Given the description of an element on the screen output the (x, y) to click on. 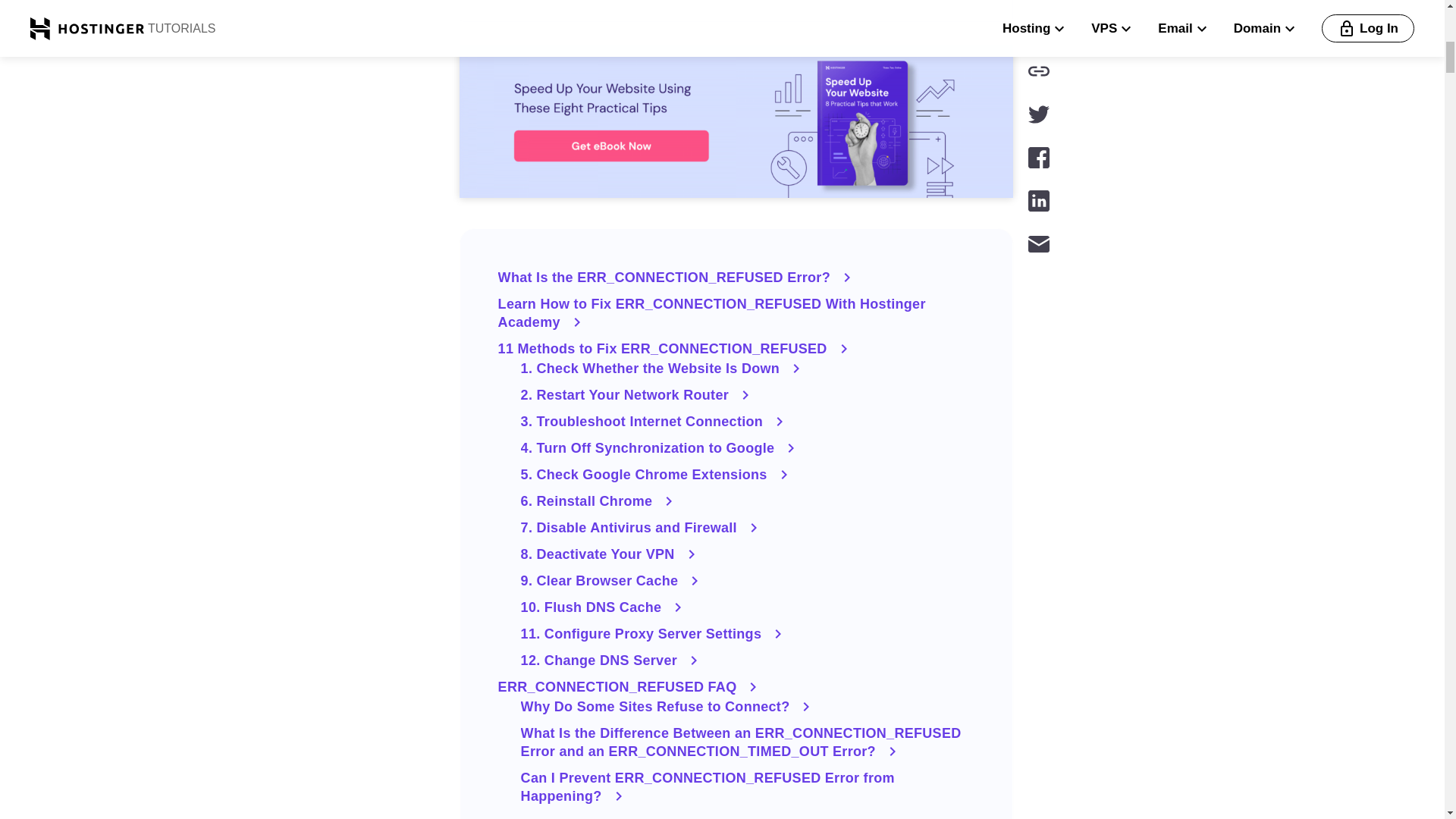
8. Deactivate Your VPN (747, 554)
10. Flush DNS Cache (747, 607)
12. Change DNS Server (747, 660)
11. Configure Proxy Server Settings (747, 633)
1. Check Whether the Website Is Down (747, 368)
1. Check Whether the Website Is Down (747, 368)
8. Deactivate Your VPN (747, 554)
2. Restart Your Network Router (747, 394)
4. Turn Off Synchronization to Google (747, 447)
12. Change DNS Server (747, 660)
3. Troubleshoot Internet Connection (747, 421)
9. Clear Browser Cache (747, 580)
4. Turn Off Synchronization to Google (747, 447)
11. Configure Proxy Server Settings (747, 633)
7. Disable Antivirus and Firewall (747, 527)
